Given the description of an element on the screen output the (x, y) to click on. 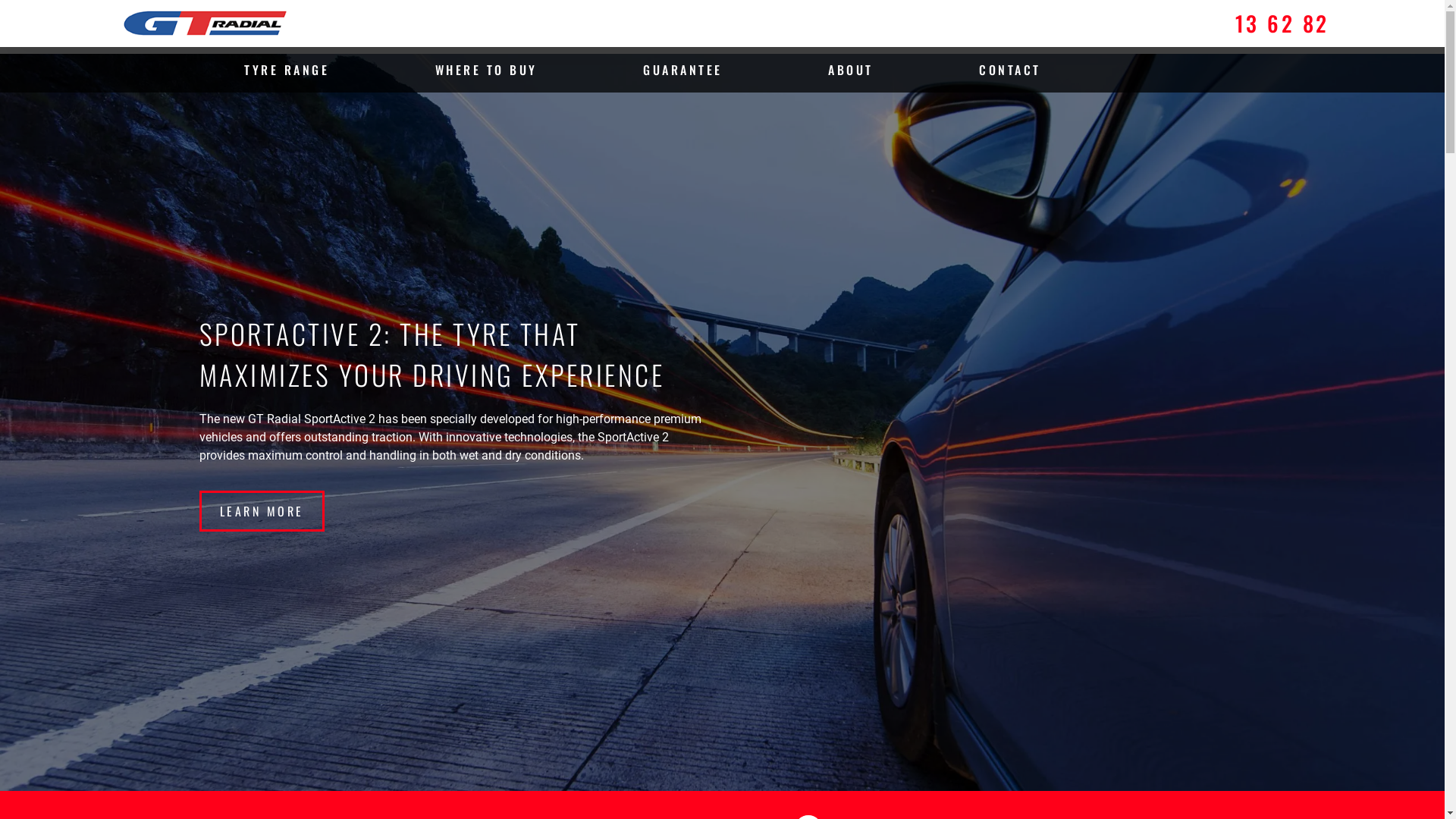
WHERE TO BUY Element type: text (486, 69)
13 62 82 Element type: text (1282, 22)
ABOUT Element type: text (850, 69)
LEARN MORE Element type: text (260, 510)
CONTACT Element type: text (1010, 69)
TYRE RANGE Element type: text (286, 69)
GUARANTEE Element type: text (682, 69)
